Given the description of an element on the screen output the (x, y) to click on. 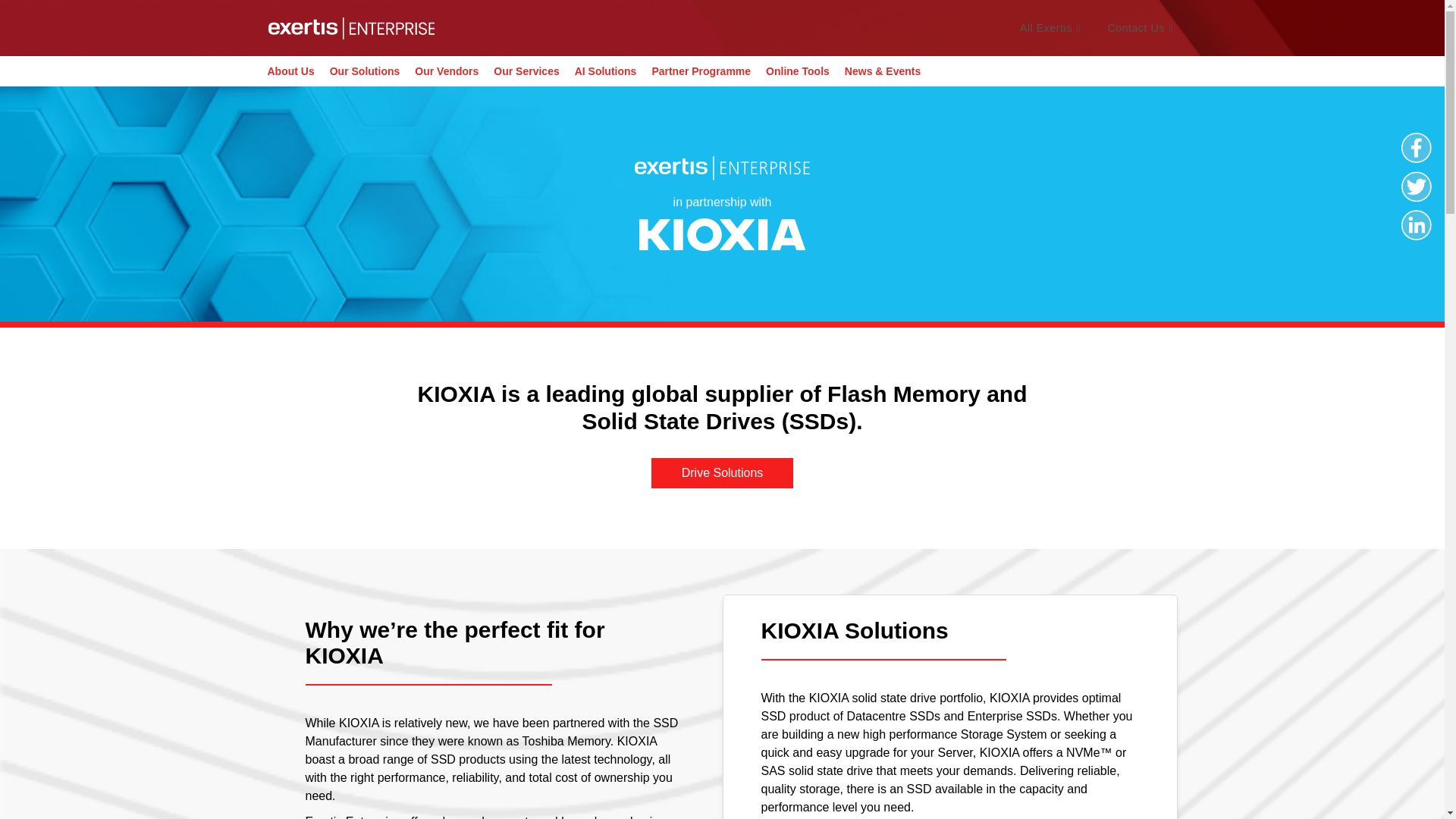
Facebook (1415, 147)
Twitter (1415, 186)
All Exertis (1052, 28)
Contact Us (1142, 28)
